Given the description of an element on the screen output the (x, y) to click on. 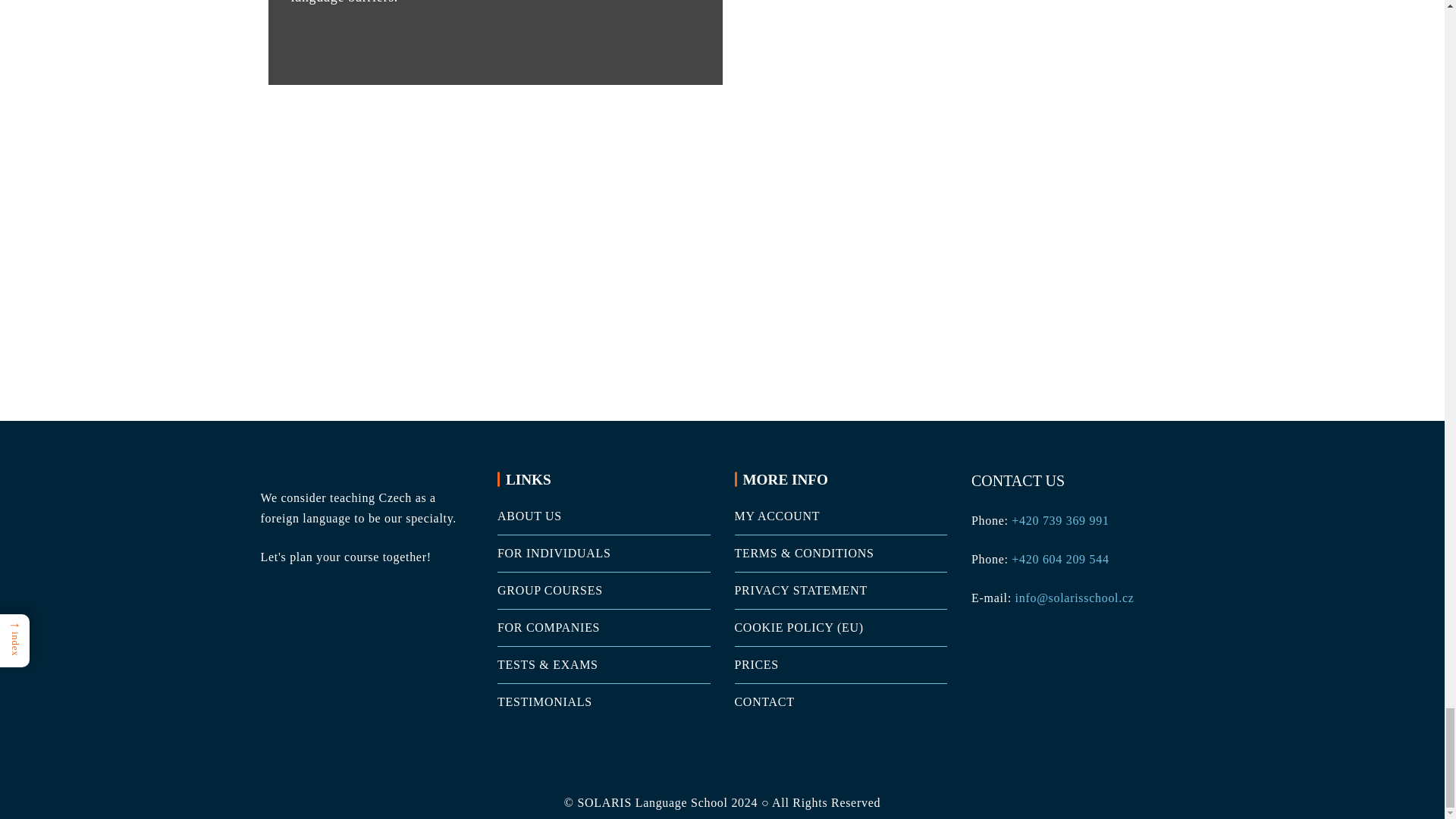
FOR COMPANIES (548, 626)
PRICES (755, 664)
FOR INDIVIDUALS (554, 553)
TESTIMONIALS (544, 701)
CONTACT (763, 701)
PRIVACY STATEMENT (800, 590)
GROUP COURSES (549, 590)
ABOUT US (529, 515)
MY ACCOUNT (776, 515)
